Given the description of an element on the screen output the (x, y) to click on. 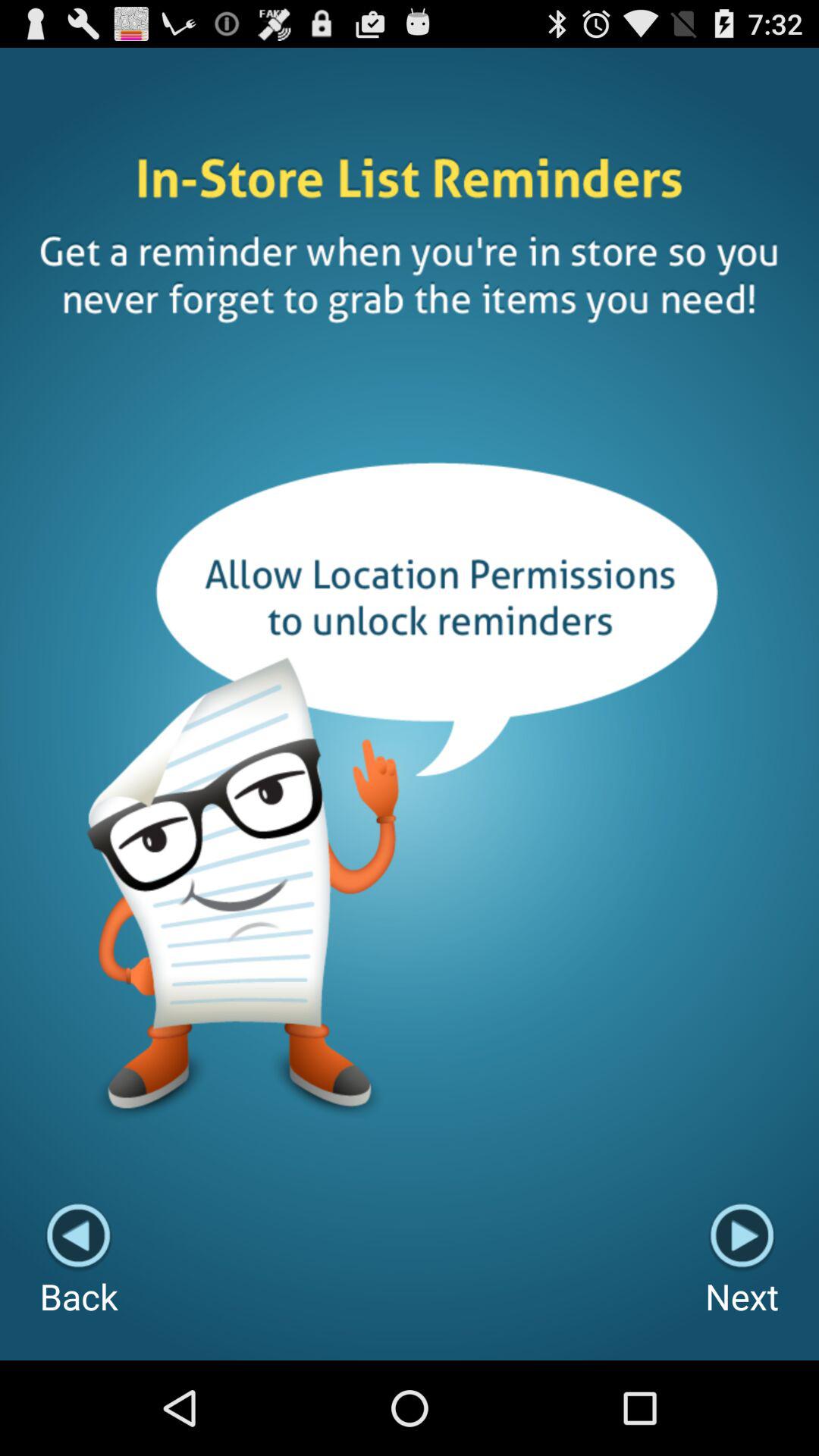
select item at the bottom right corner (742, 1260)
